Given the description of an element on the screen output the (x, y) to click on. 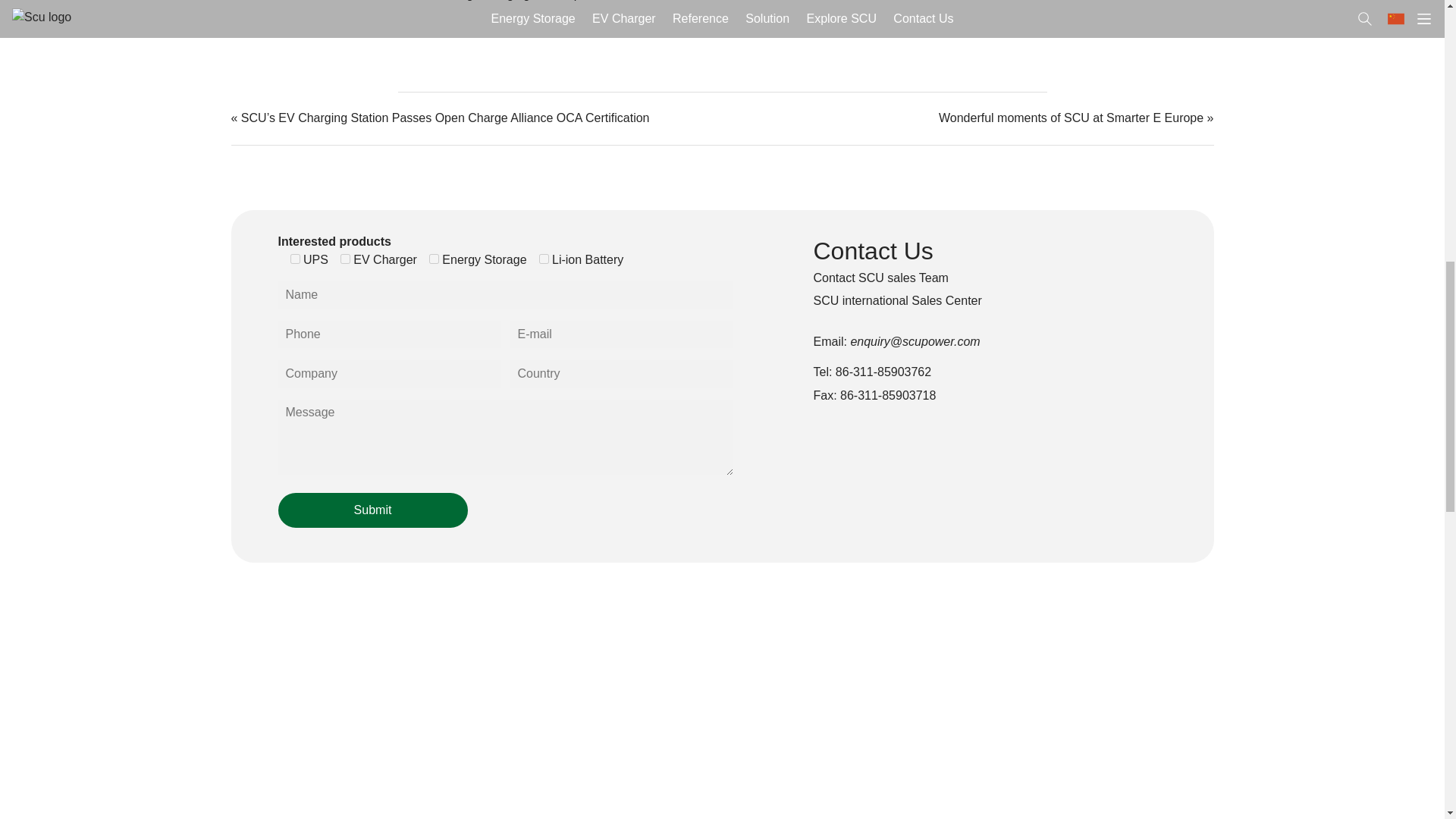
UPS (294, 257)
Submit (372, 510)
EV Charger (345, 257)
Li-ion Battery (543, 257)
Energy Storage (434, 257)
